Given the description of an element on the screen output the (x, y) to click on. 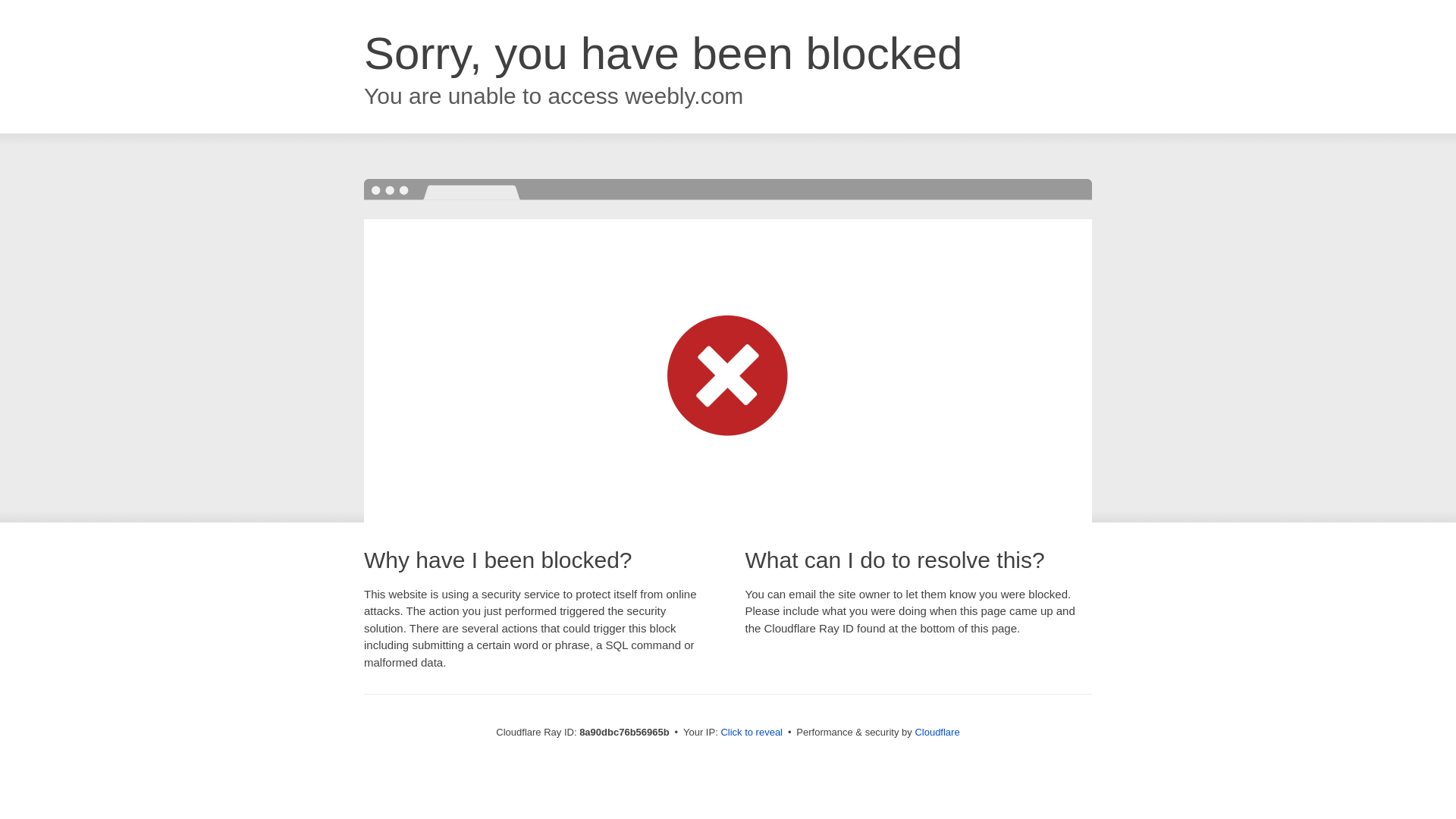
Cloudflare (936, 731)
Click to reveal (751, 732)
